Given the description of an element on the screen output the (x, y) to click on. 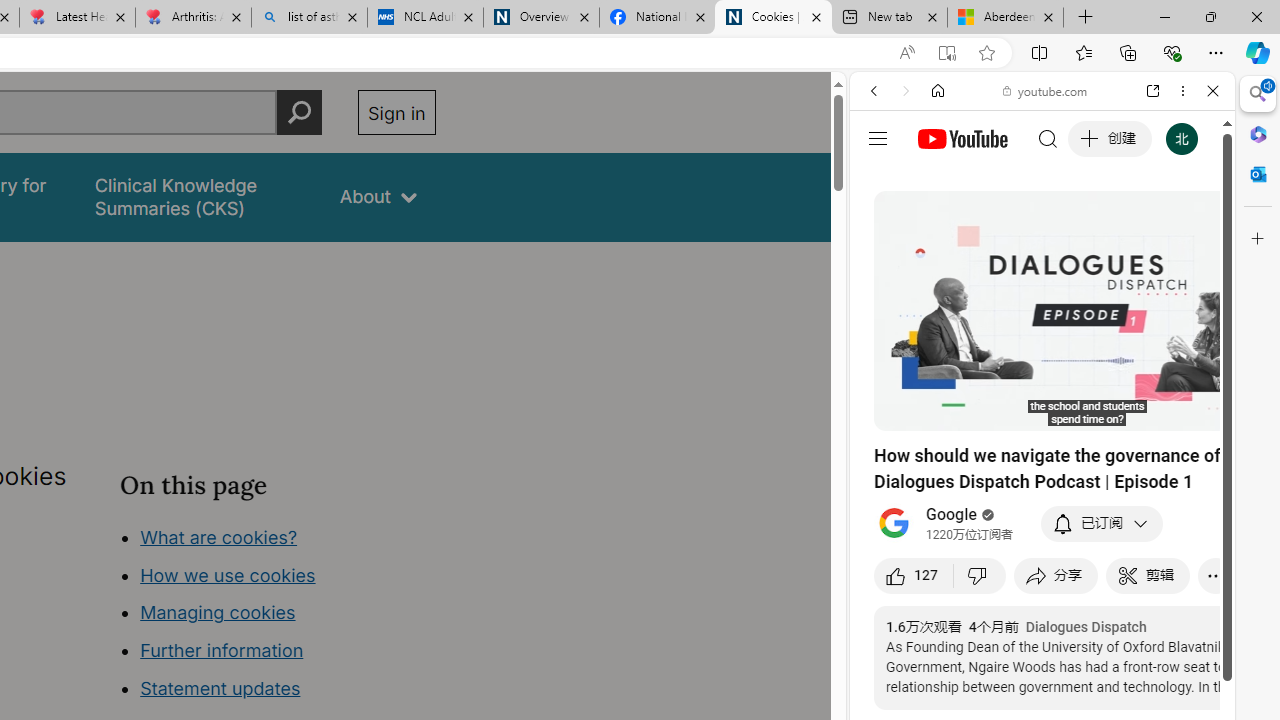
Arthritis: Ask Health Professionals (192, 17)
Perform search (299, 112)
WEB   (882, 228)
Class: ytp-subtitles-button-icon (1127, 412)
